Given the description of an element on the screen output the (x, y) to click on. 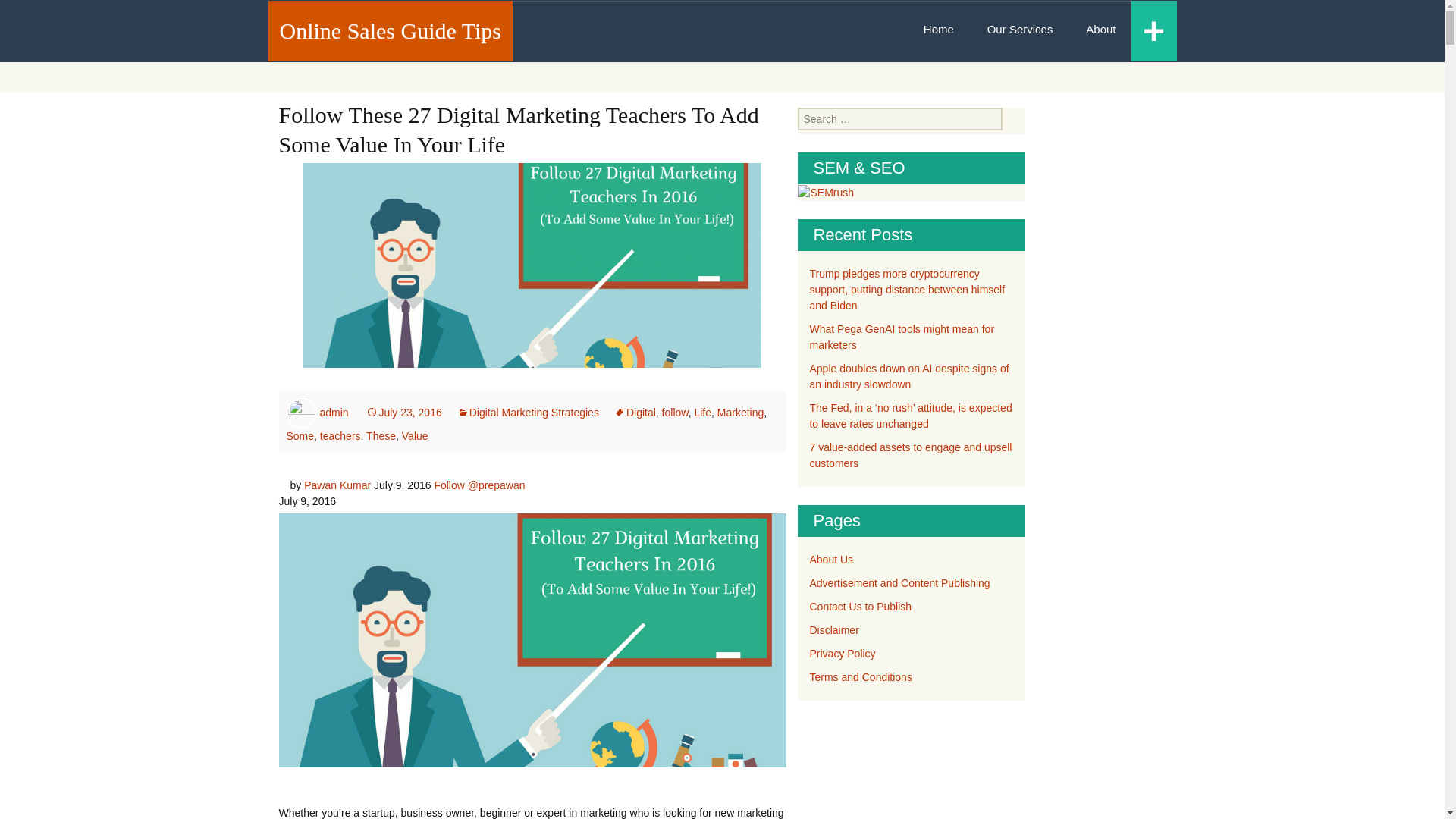
Some (300, 435)
follow (675, 412)
Our Services (1020, 28)
Digital (635, 412)
Pawan Kumar (337, 485)
Home (938, 28)
These (381, 435)
admin (332, 412)
Life (702, 412)
Value (414, 435)
Digital Marketing Strategies (527, 412)
Online Sales Guide Tips (389, 31)
